Given the description of an element on the screen output the (x, y) to click on. 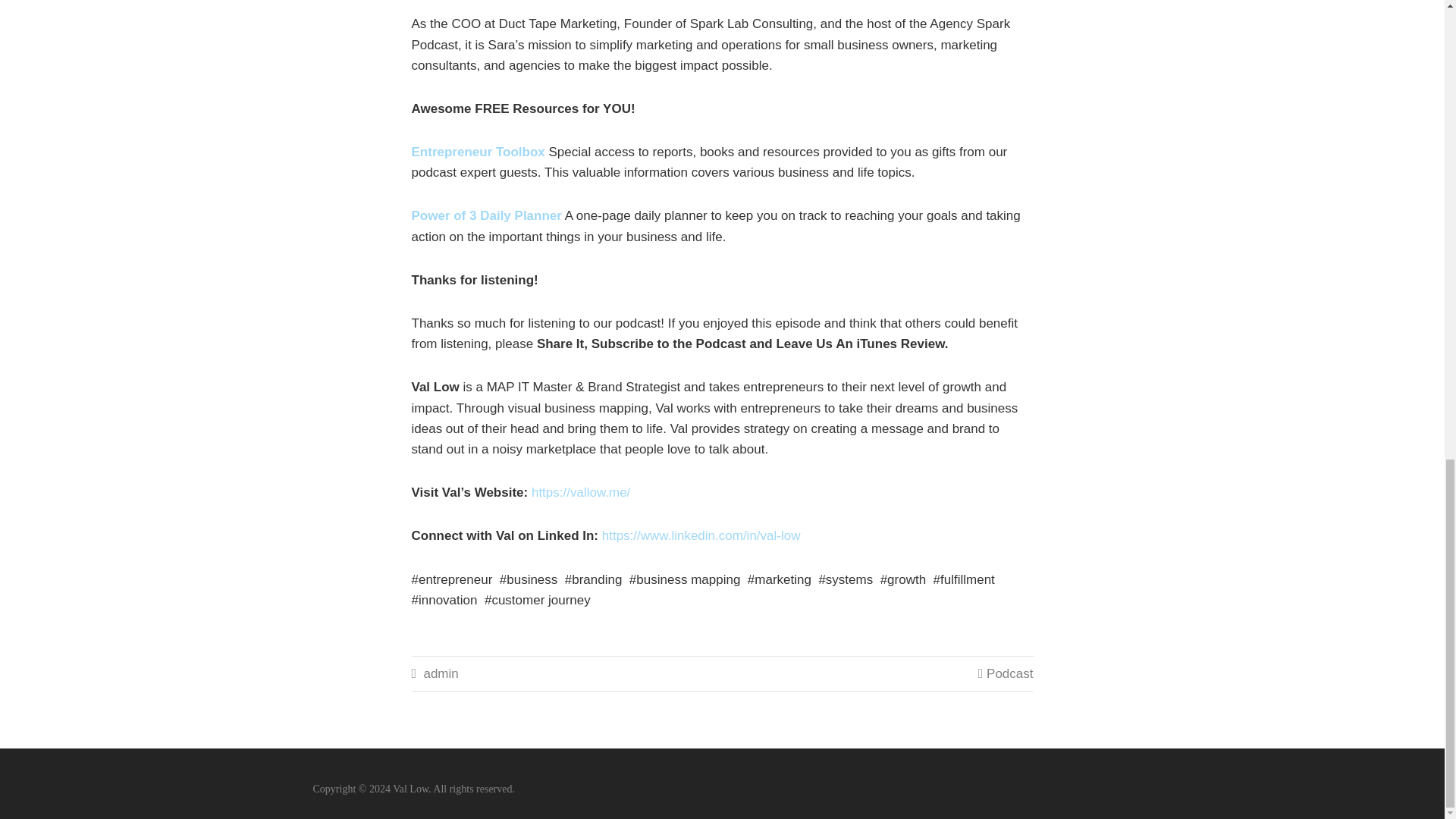
admin (440, 673)
Power of 3 Daily Planner (485, 215)
Podcast (1009, 673)
Entrepreneur Toolbox (477, 151)
